Given the description of an element on the screen output the (x, y) to click on. 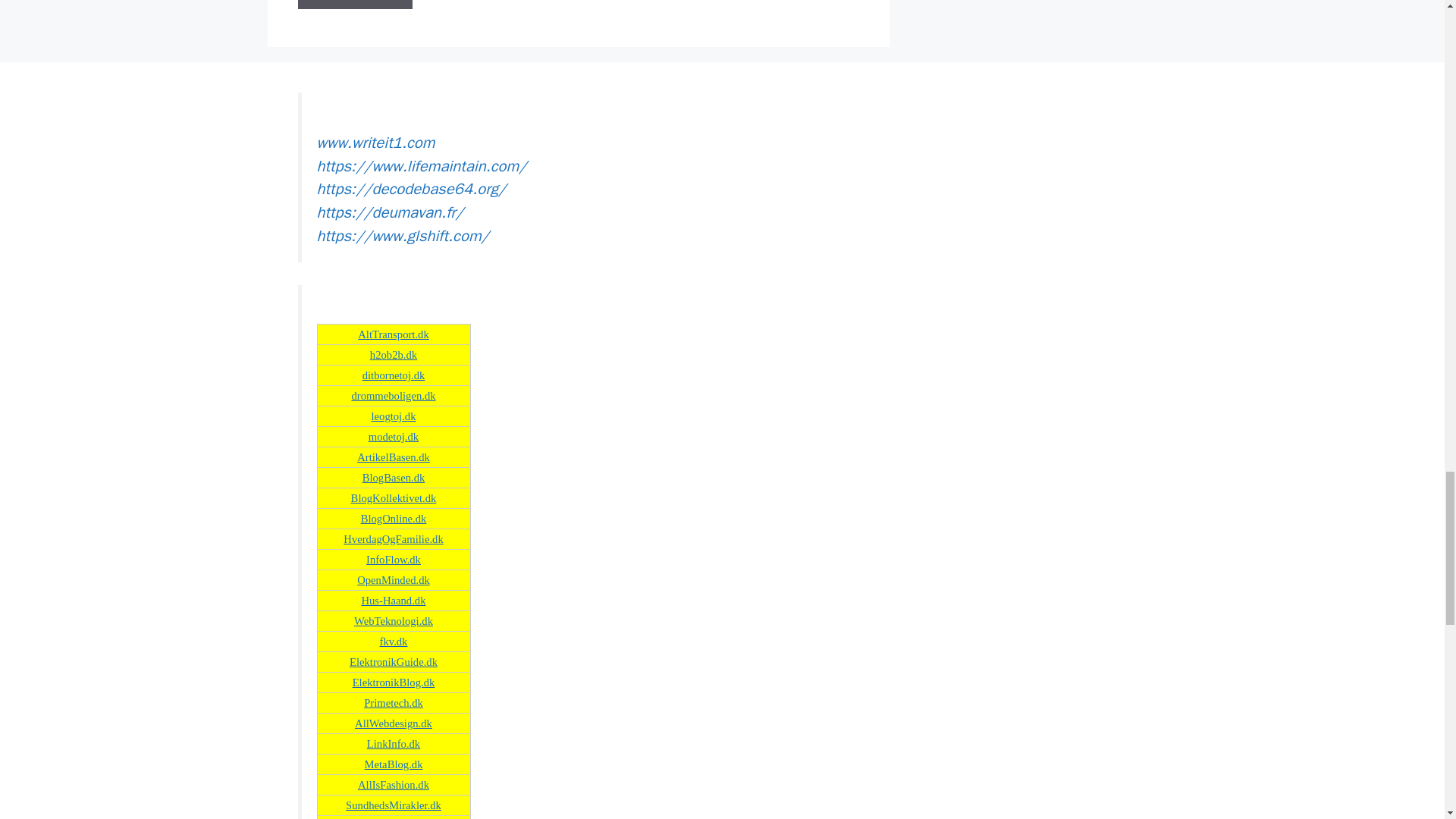
Post Comment (354, 4)
AltTransport.dk (393, 334)
Post Comment (354, 4)
www.writeit1.com (376, 142)
